Given the description of an element on the screen output the (x, y) to click on. 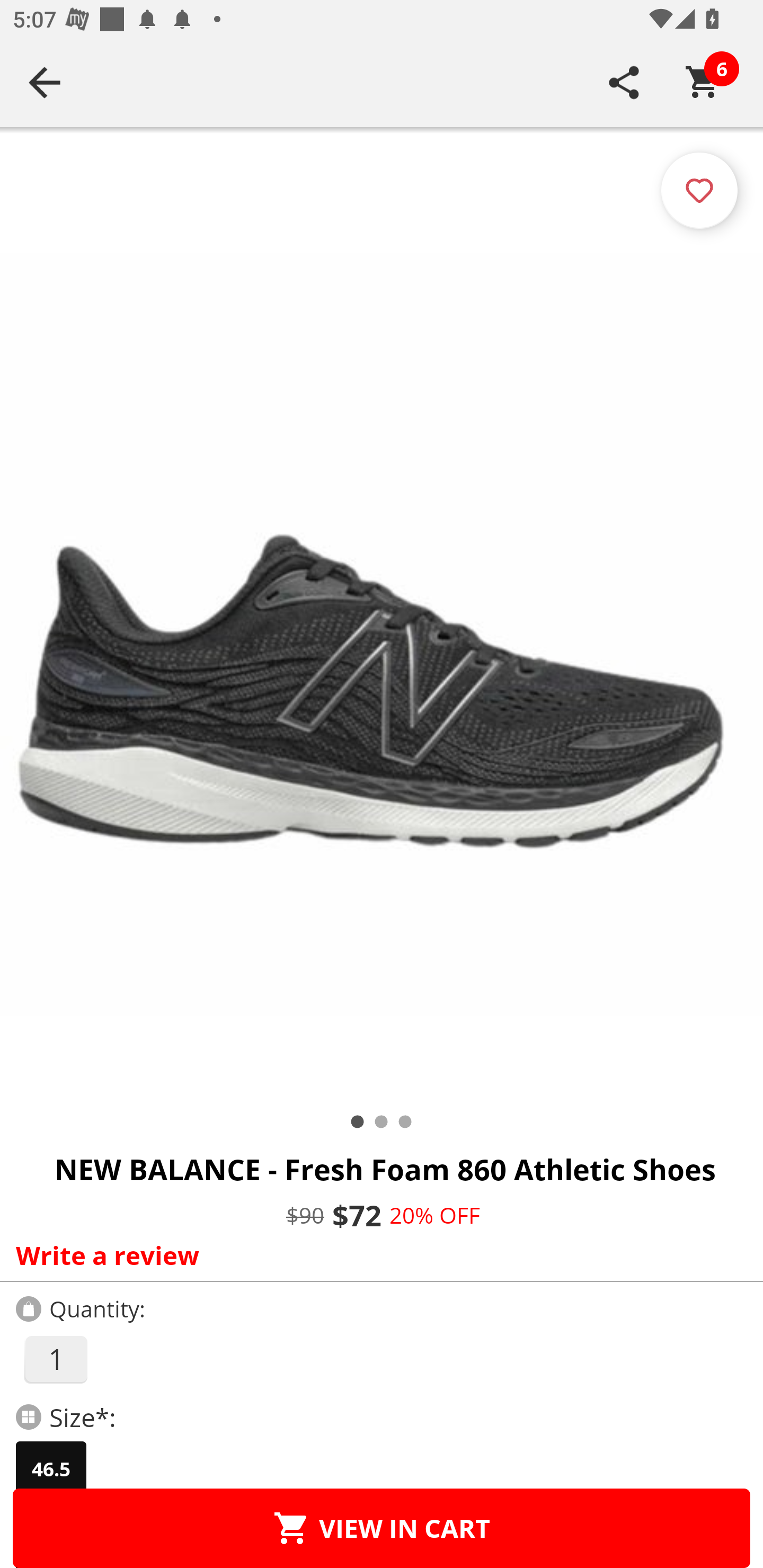
Navigate up (44, 82)
SHARE (623, 82)
Cart (703, 81)
Write a review (377, 1255)
1 (55, 1358)
46.5 (51, 1468)
VIEW IN CART (381, 1528)
